Given the description of an element on the screen output the (x, y) to click on. 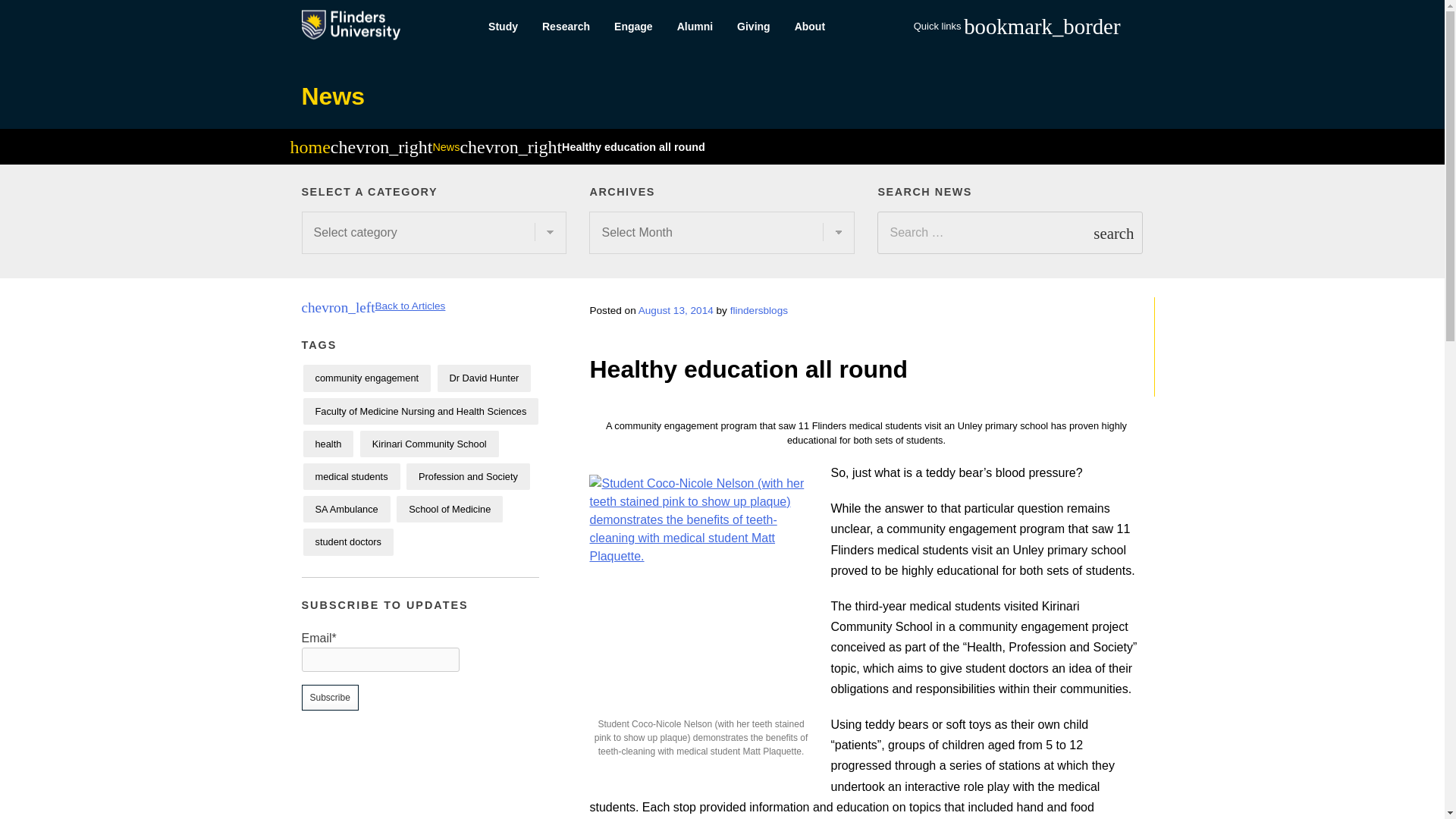
SA Ambulance (346, 509)
health (327, 443)
search (1113, 232)
Research (565, 26)
flindersblogs (758, 310)
Profession and Society (467, 476)
Homepage (309, 149)
News (333, 95)
medical students (351, 476)
Dr David Hunter (484, 377)
